Given the description of an element on the screen output the (x, y) to click on. 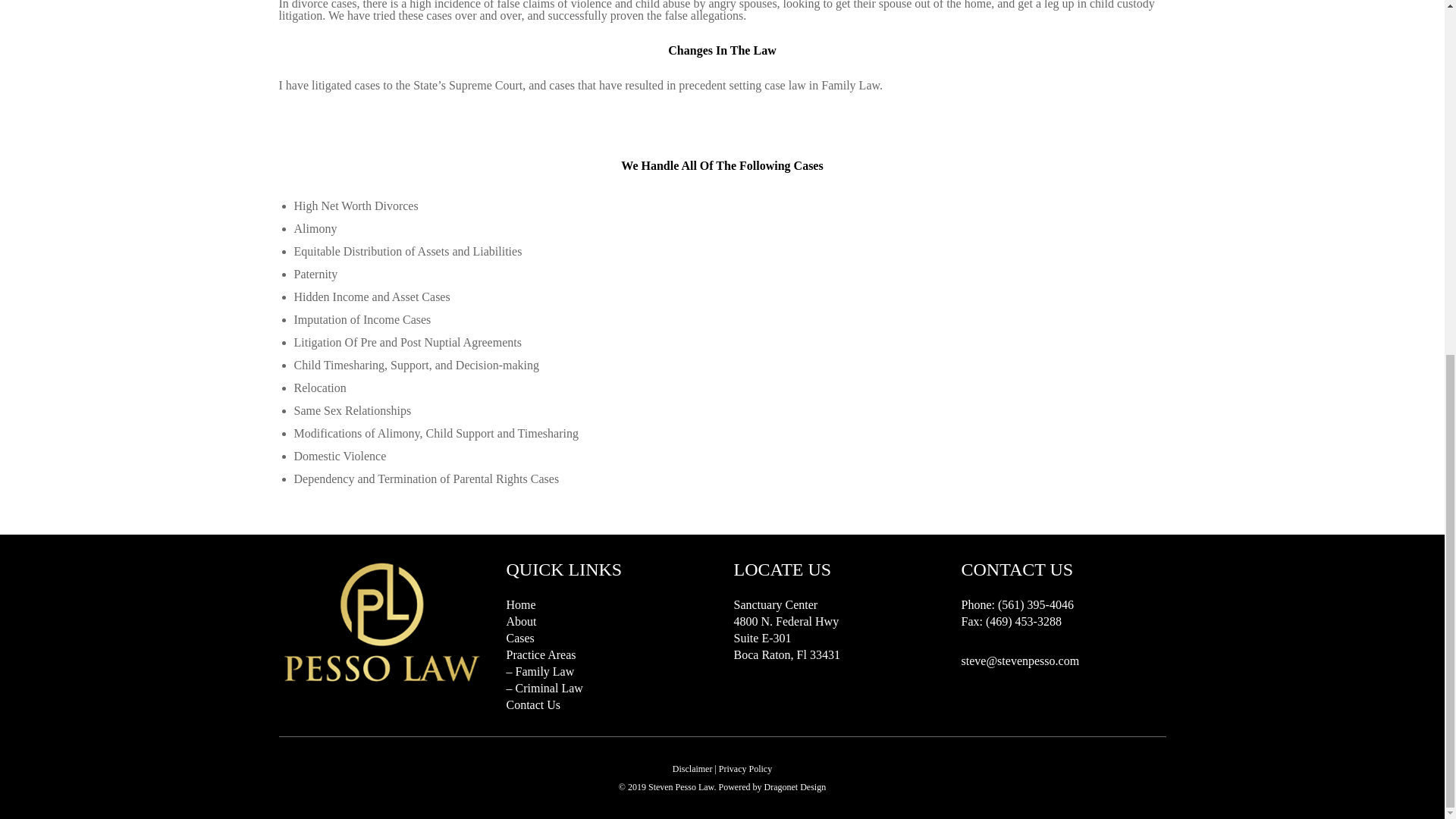
Disclaimer (692, 768)
Family Law (545, 671)
Criminal Law (549, 687)
Practice Areas (541, 654)
About (521, 621)
Home (520, 604)
Privacy Policy (745, 768)
Cases (520, 637)
Dragonet Design (795, 787)
